Given the description of an element on the screen output the (x, y) to click on. 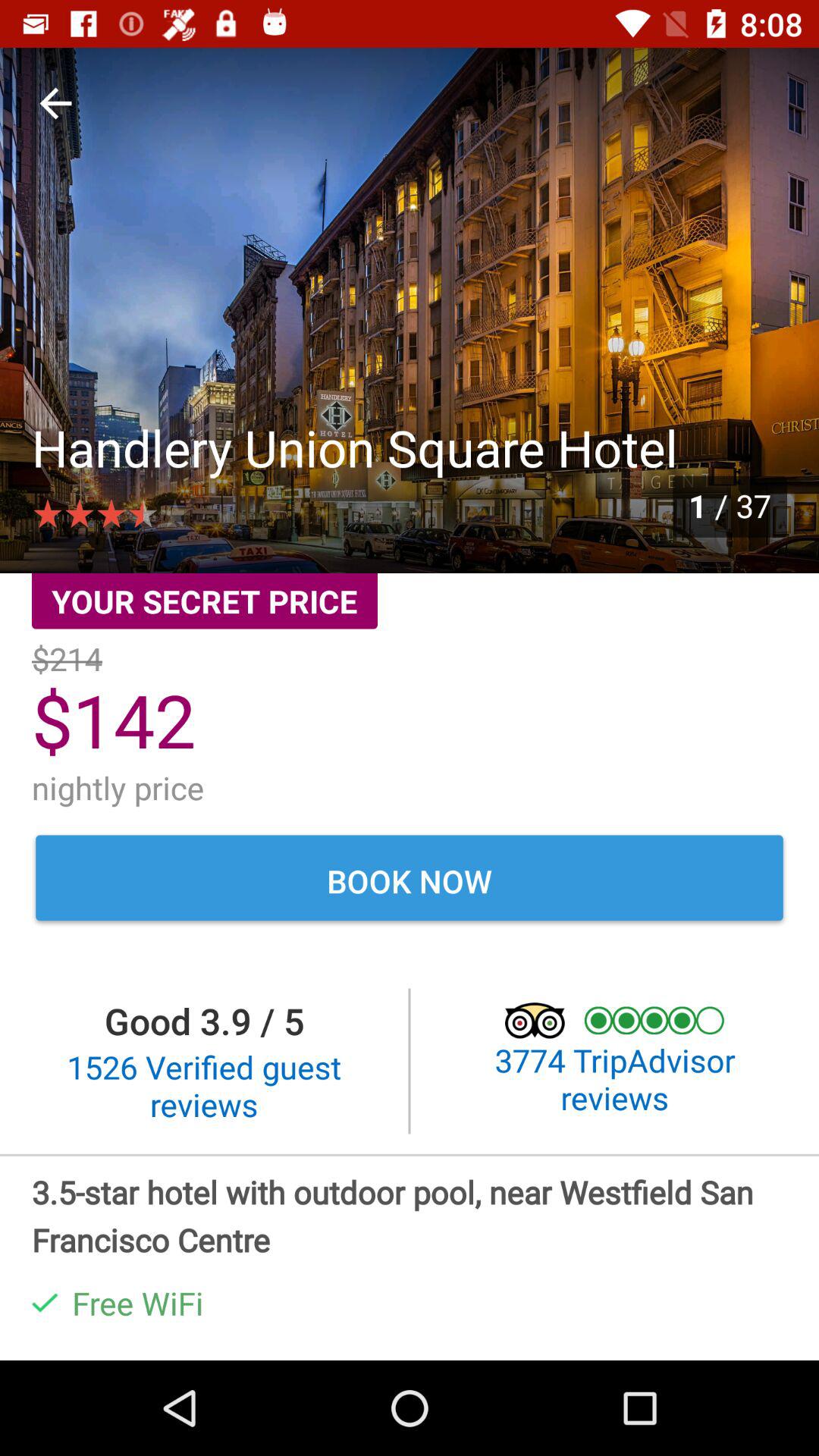
select book now (409, 880)
